Given the description of an element on the screen output the (x, y) to click on. 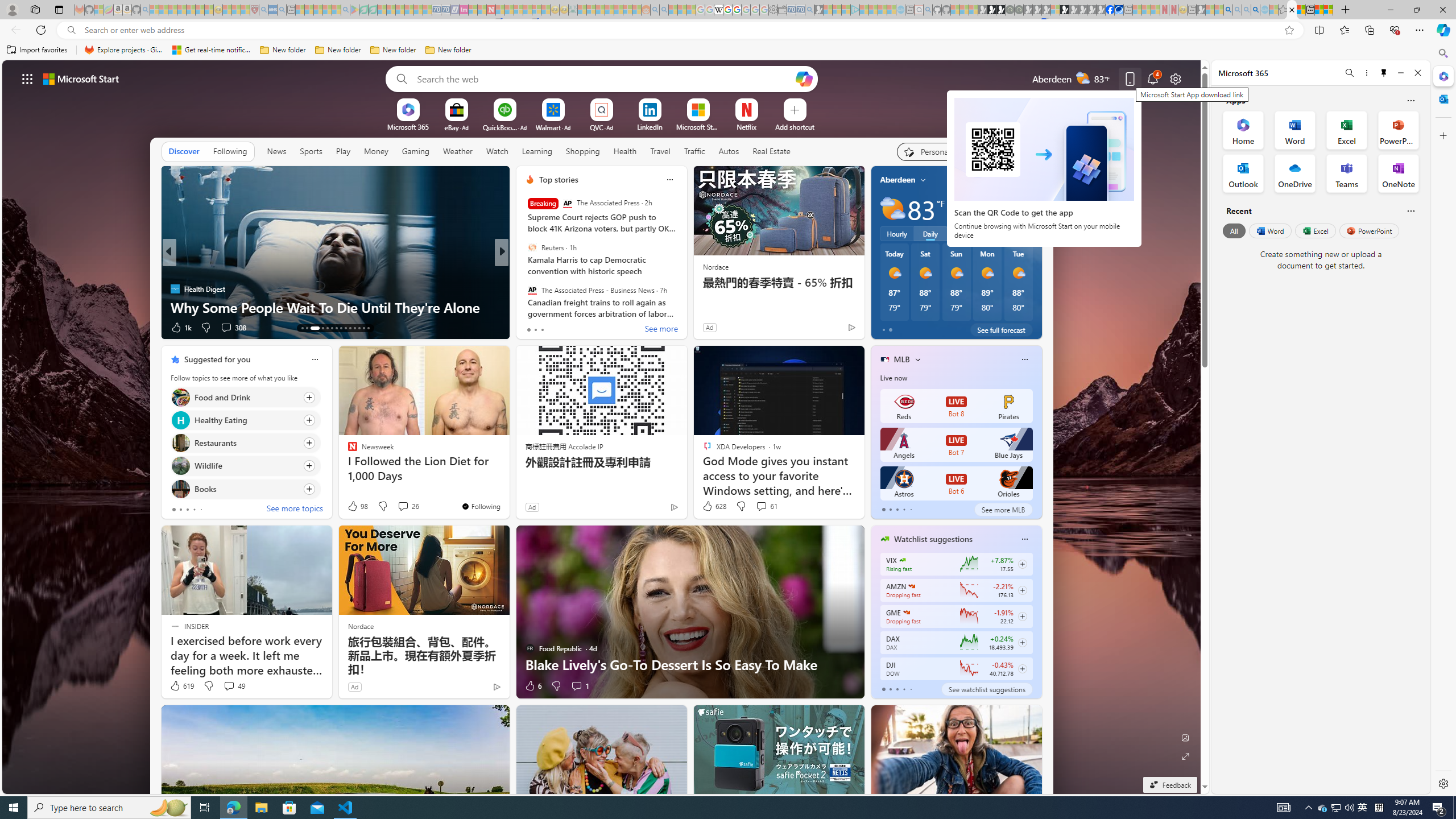
Privacy Help Center - Policies Help (726, 9)
View comments 6 Comment (580, 327)
Why Some People Wait To Die Until They're Alone (335, 307)
Health Digest (174, 288)
Class: weather-arrow-glyph (1029, 208)
Sign in to your account - Sleeping (1054, 9)
GAMESTOP CORP. (906, 612)
